Given the description of an element on the screen output the (x, y) to click on. 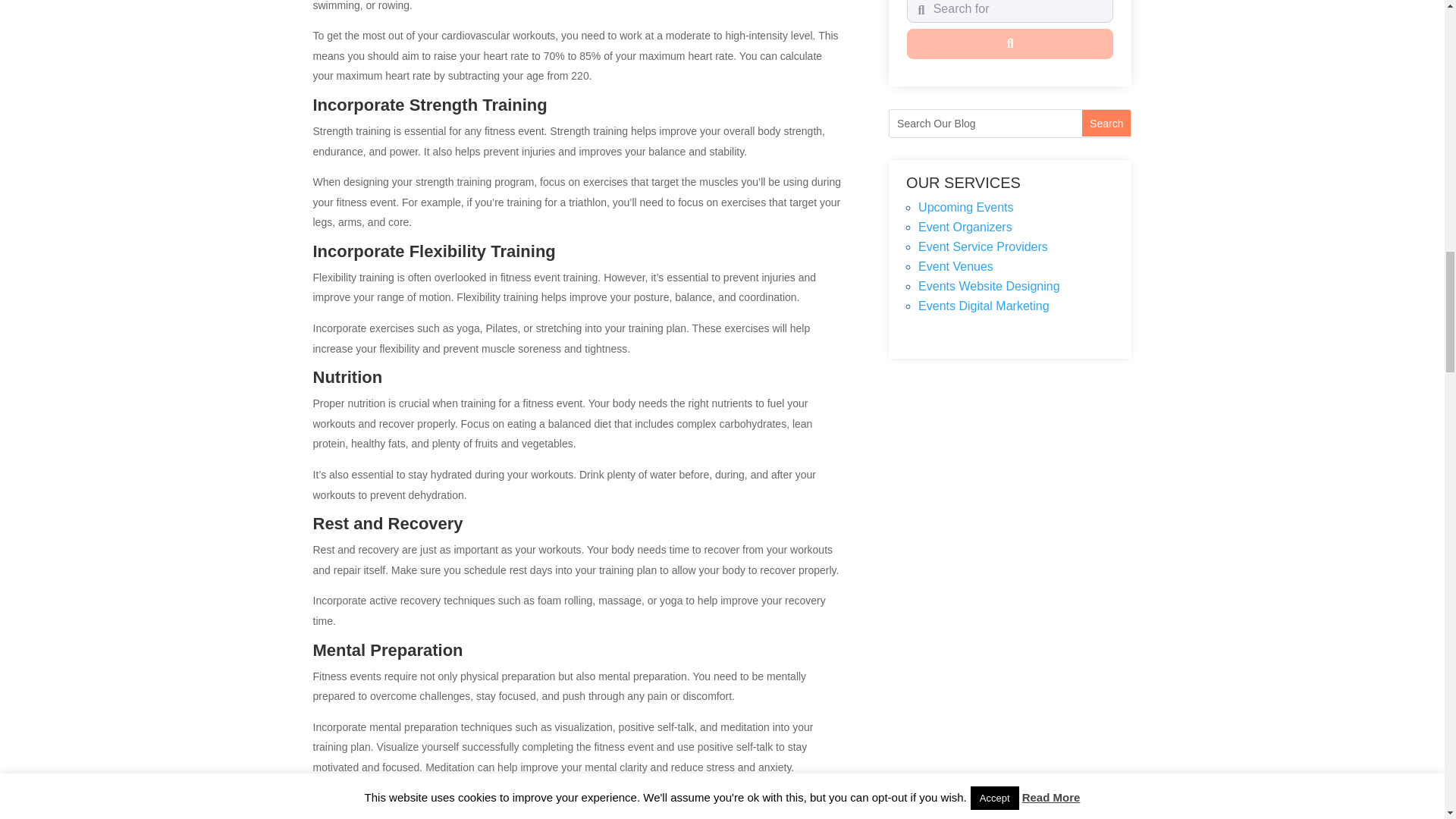
Search (1106, 122)
Search (1106, 122)
